Given the description of an element on the screen output the (x, y) to click on. 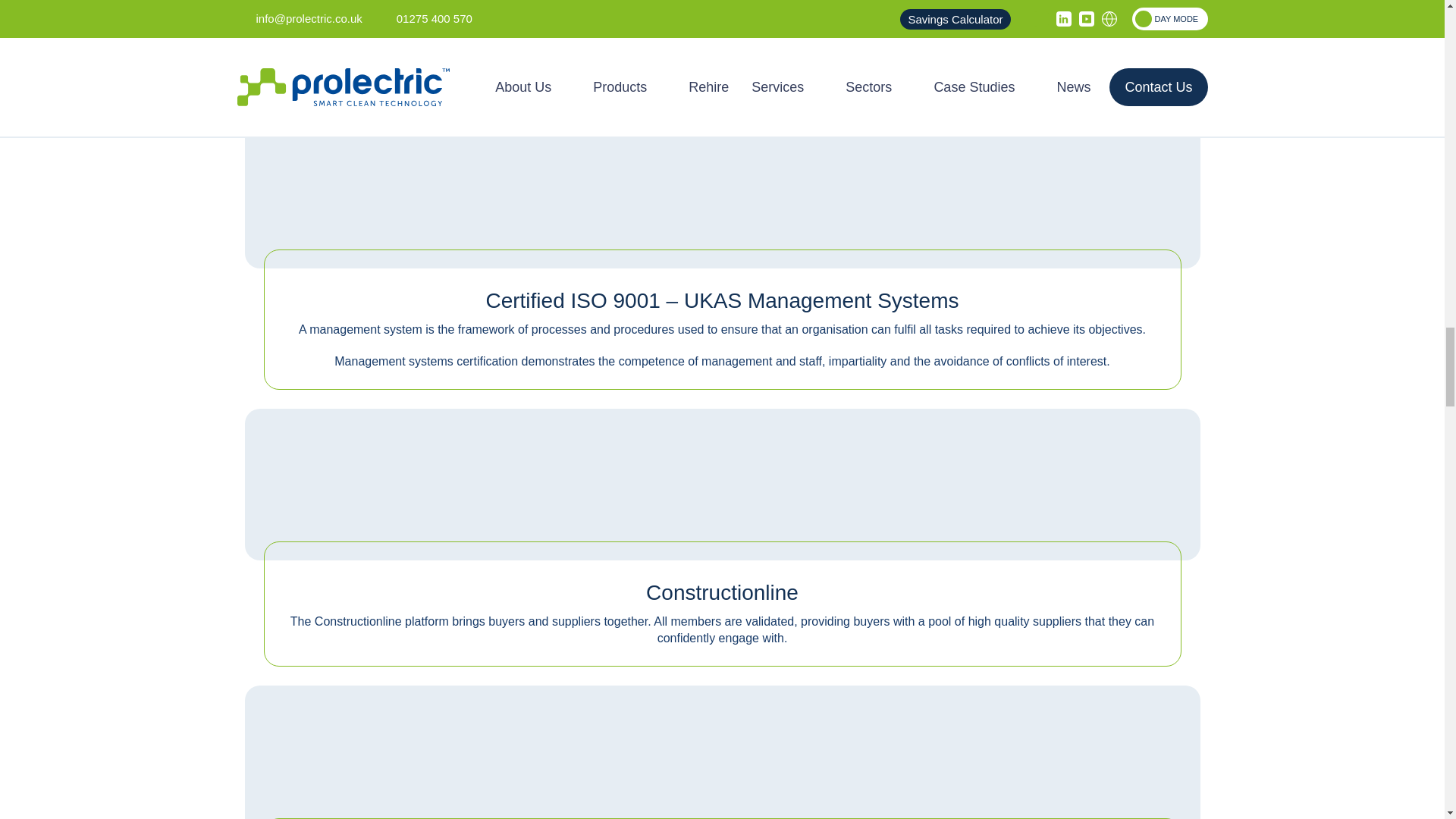
Gold CSR Accreditation (721, 751)
Constructionline (721, 474)
